Given the description of an element on the screen output the (x, y) to click on. 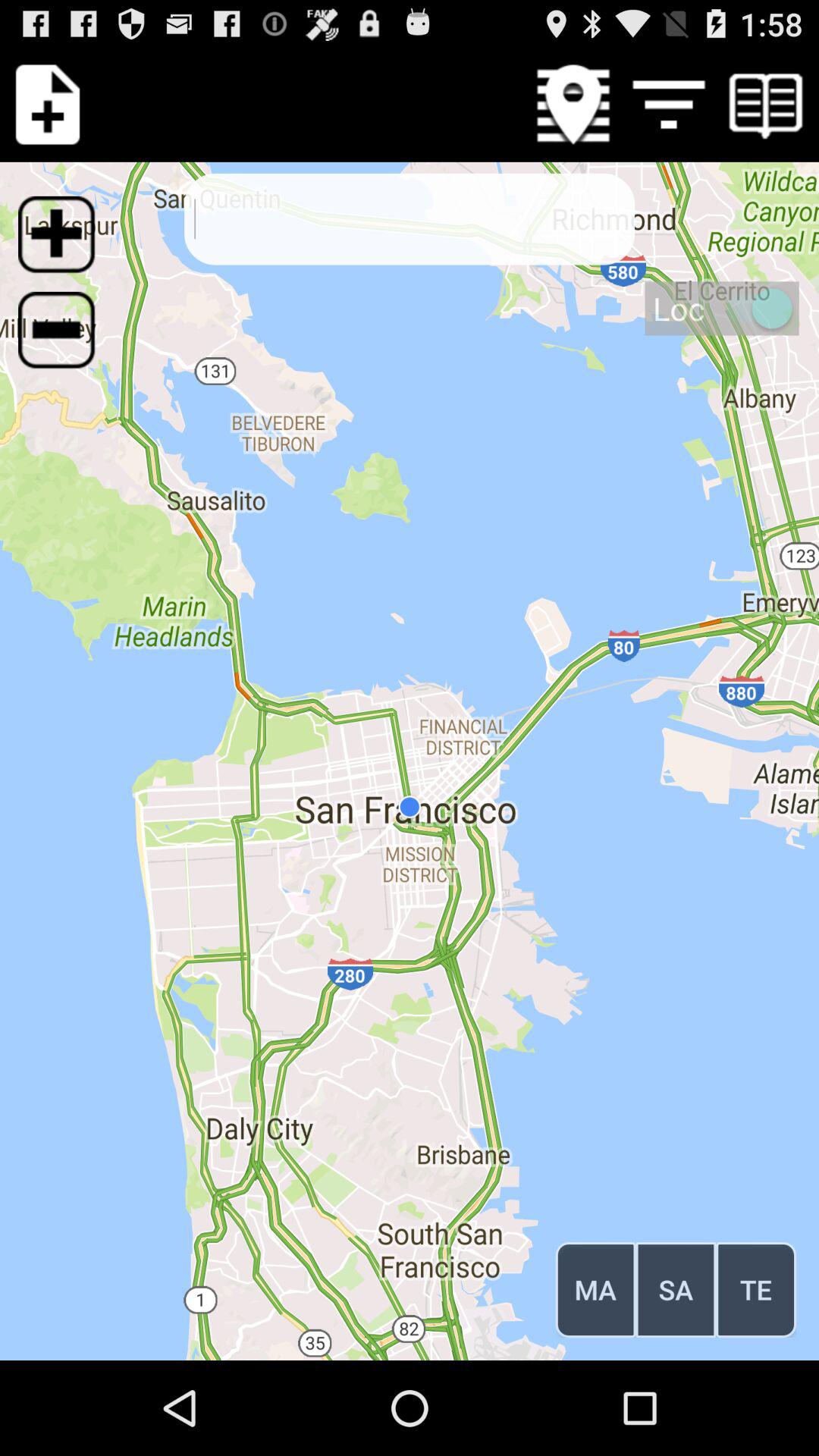
turn off icon below the  loc icon (756, 1289)
